Given the description of an element on the screen output the (x, y) to click on. 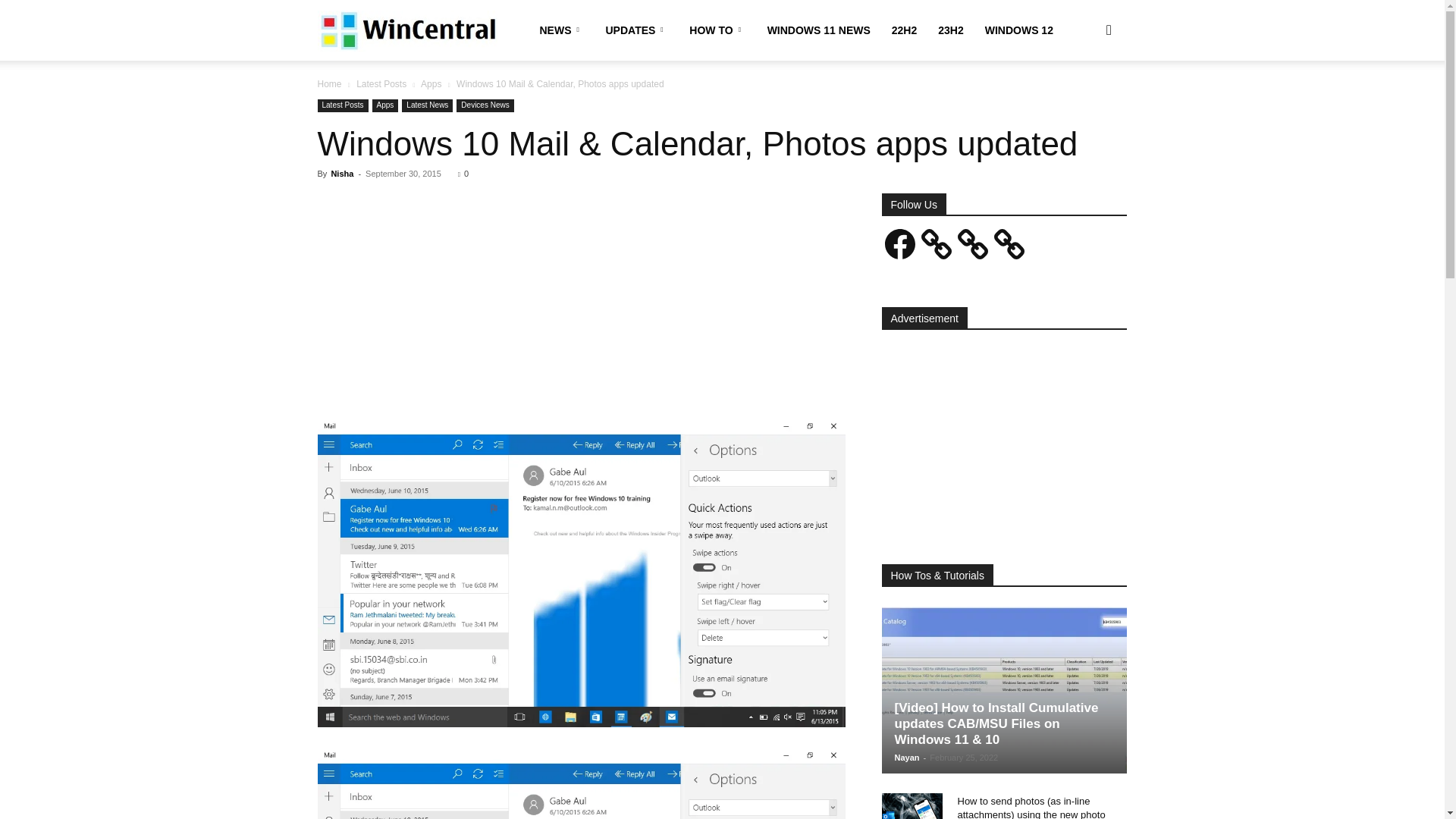
Apps (430, 83)
WINDOWS 12 (1019, 30)
NEWS (562, 30)
Advertisement (580, 305)
Nisha (341, 173)
Home (328, 83)
Latest Posts (342, 105)
WinCentral logo (406, 31)
View all posts in Latest Posts (381, 83)
HOW TO (716, 30)
UPDATES (636, 30)
WINDOWS 11 NEWS (818, 30)
Latest Posts (381, 83)
Search (1085, 102)
